Given the description of an element on the screen output the (x, y) to click on. 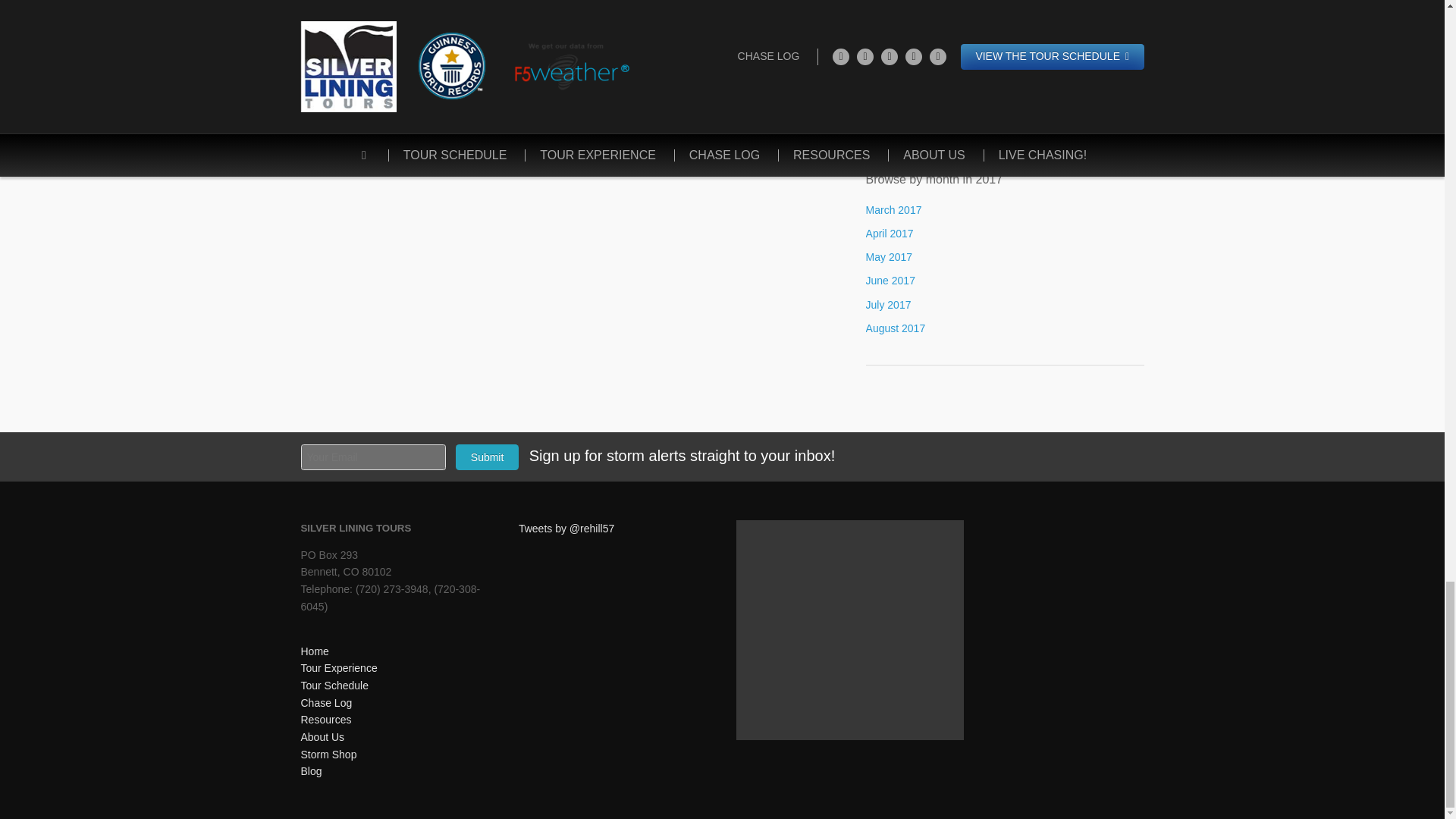
Submit (486, 456)
Your Email (372, 457)
